Given the description of an element on the screen output the (x, y) to click on. 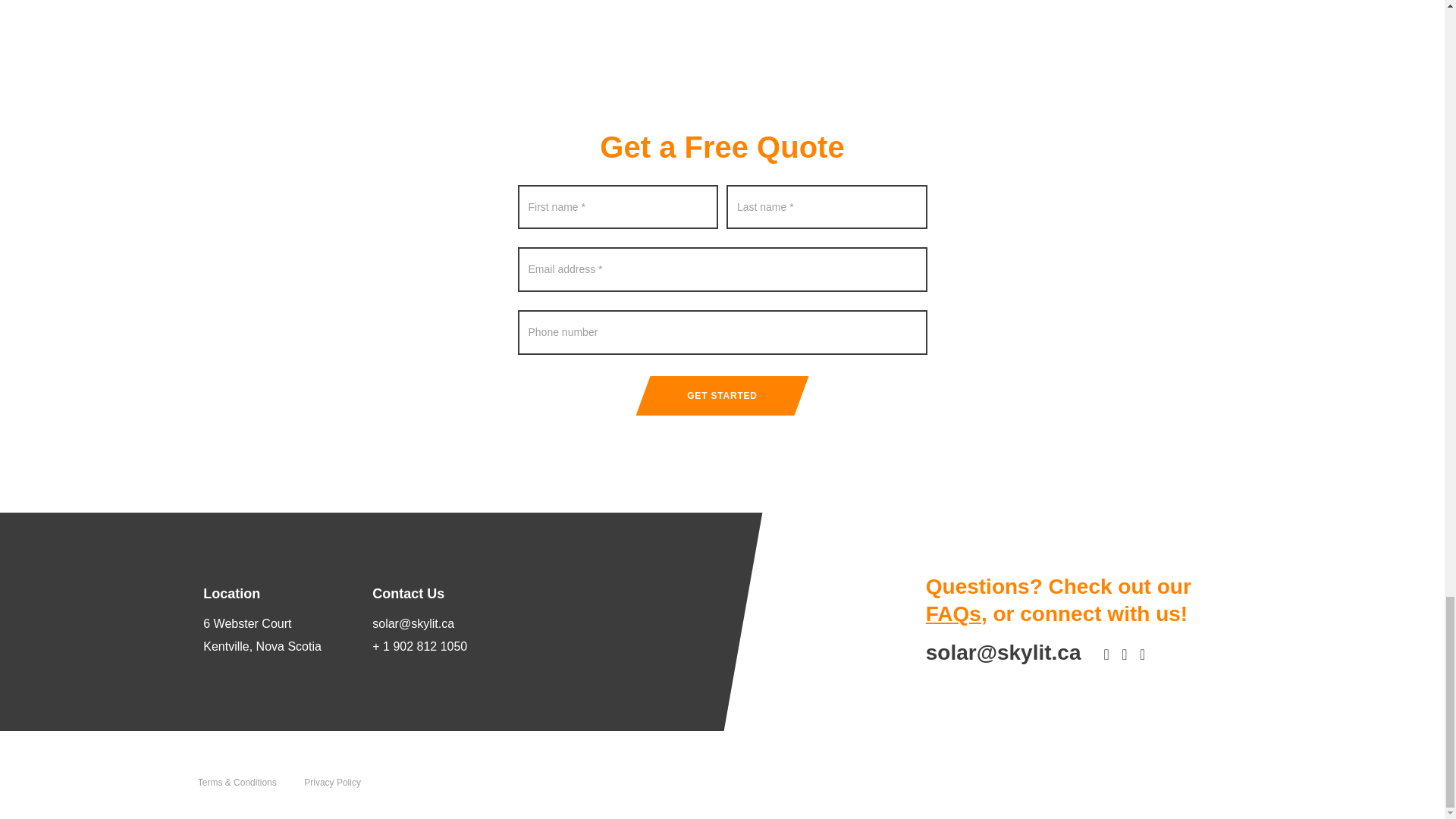
FAQs (953, 613)
GET STARTED (721, 395)
Privacy Policy (276, 635)
